Given the description of an element on the screen output the (x, y) to click on. 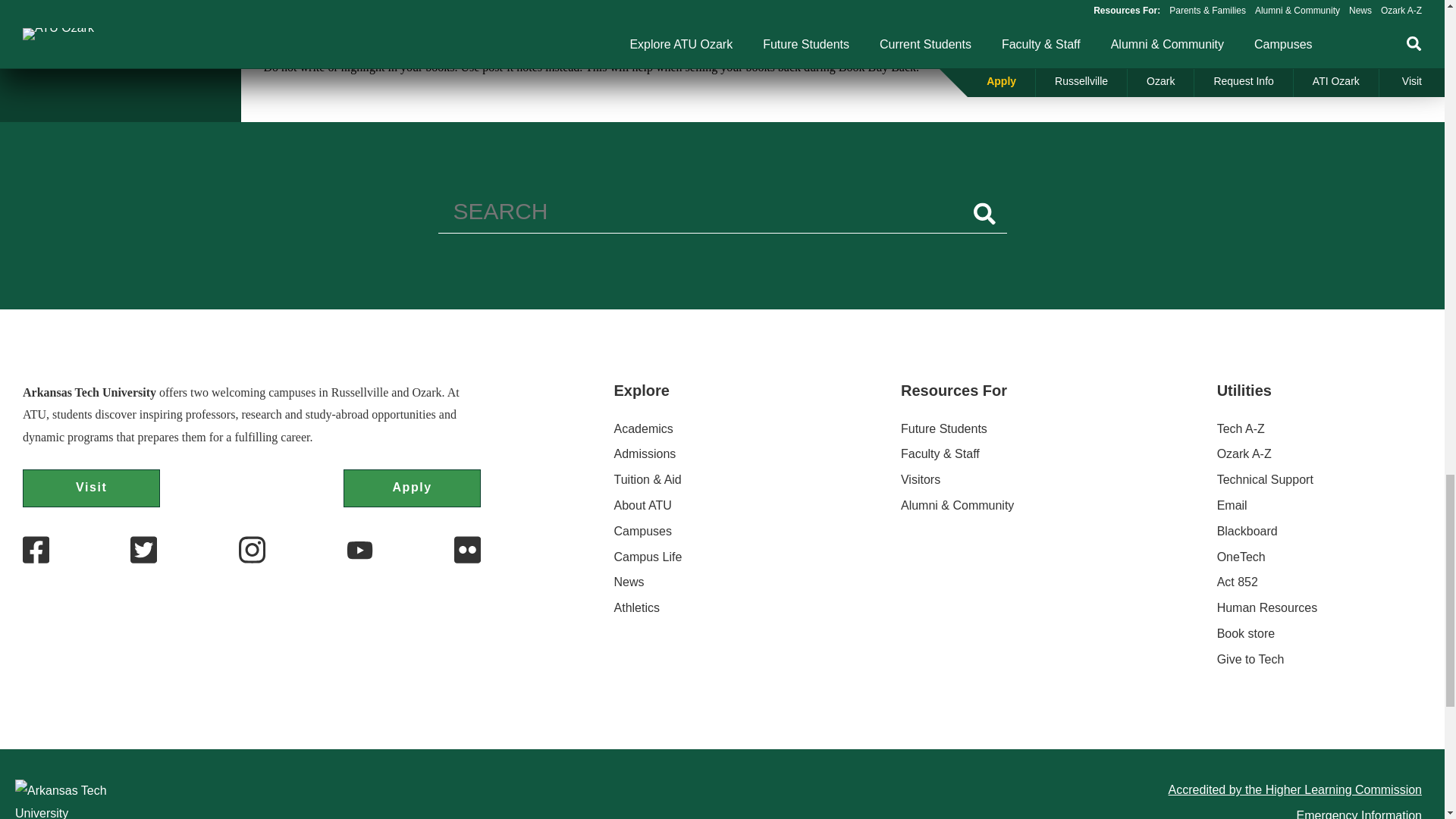
Site Search (722, 215)
